Given the description of an element on the screen output the (x, y) to click on. 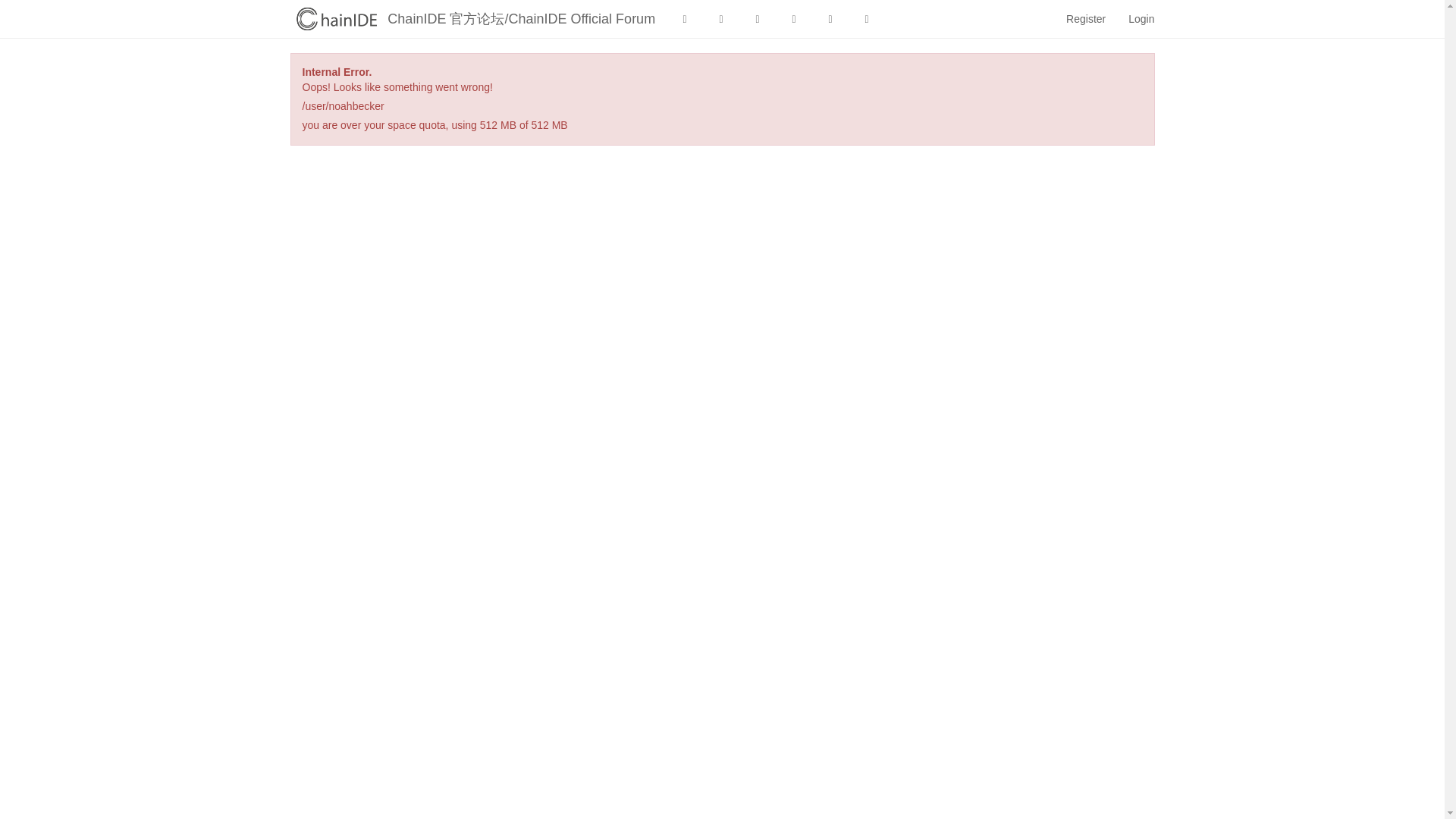
Groups (866, 18)
Login (1141, 18)
Users (830, 18)
Popular (794, 18)
Categories (684, 18)
Register (1085, 18)
Tags (757, 18)
Recent (721, 18)
